Given the description of an element on the screen output the (x, y) to click on. 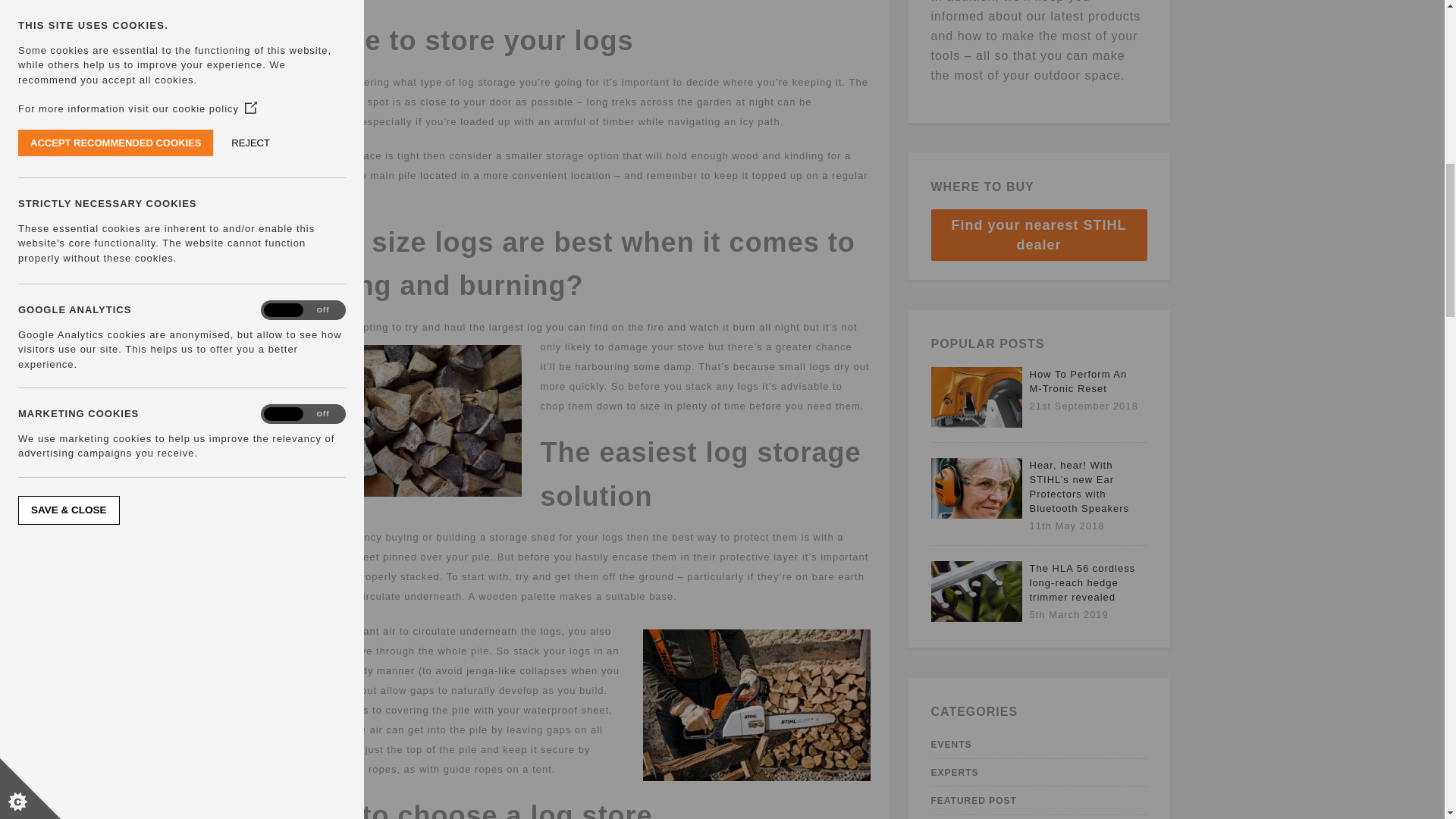
Permanent Link to How To Perform An M-Tronic Reset (976, 423)
Permanent Link to How To Perform An M-Tronic Reset (1077, 380)
